Given the description of an element on the screen output the (x, y) to click on. 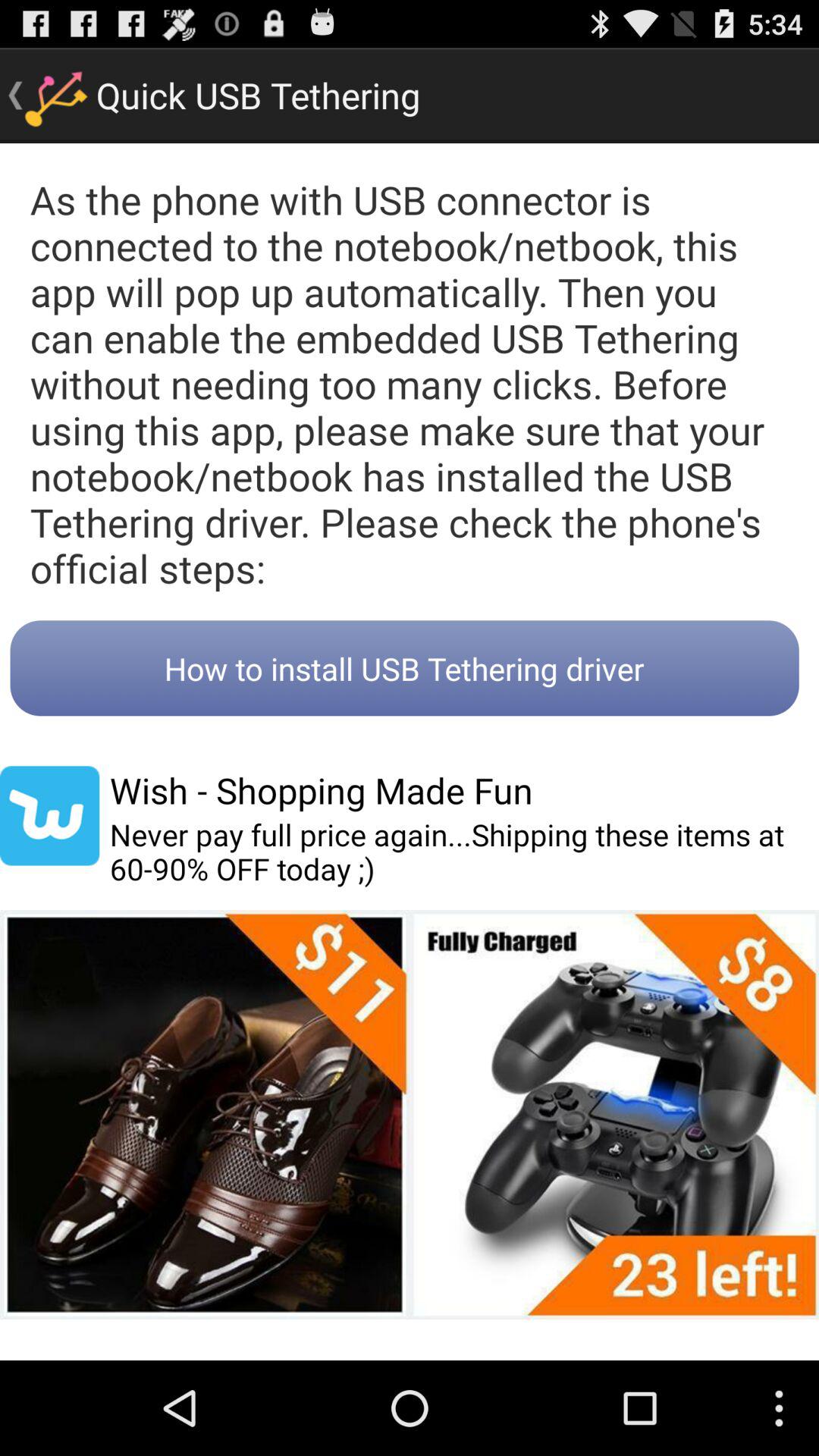
choose icon below how to install item (49, 815)
